Given the description of an element on the screen output the (x, y) to click on. 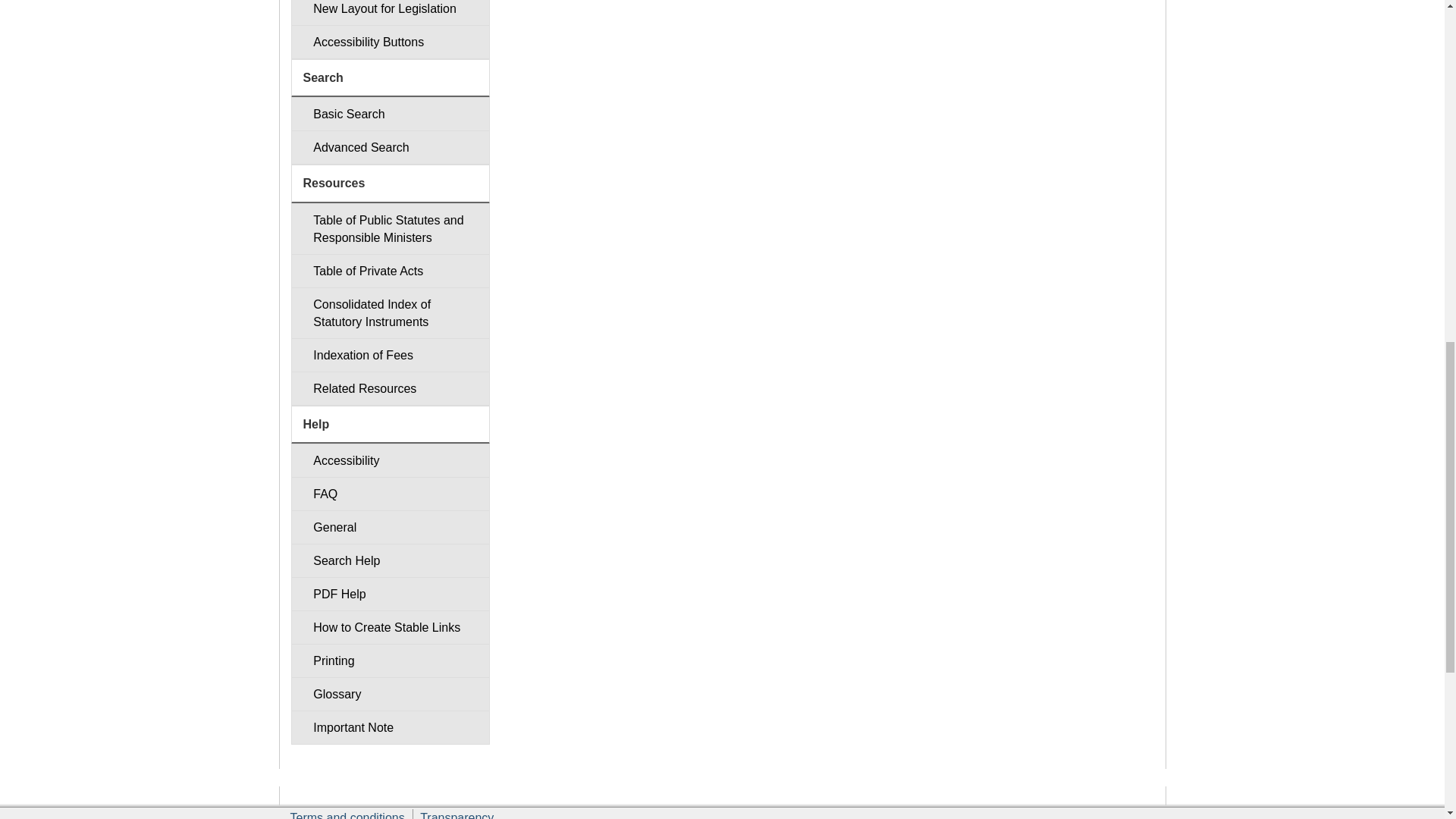
Search - Justice Laws Website (390, 114)
Accessibility Help (390, 460)
Frequently Asked Questions (390, 493)
Printing Help (390, 660)
Advanced Search - Justice Laws Website (390, 147)
Related Resources (390, 388)
General Help (390, 527)
